Given the description of an element on the screen output the (x, y) to click on. 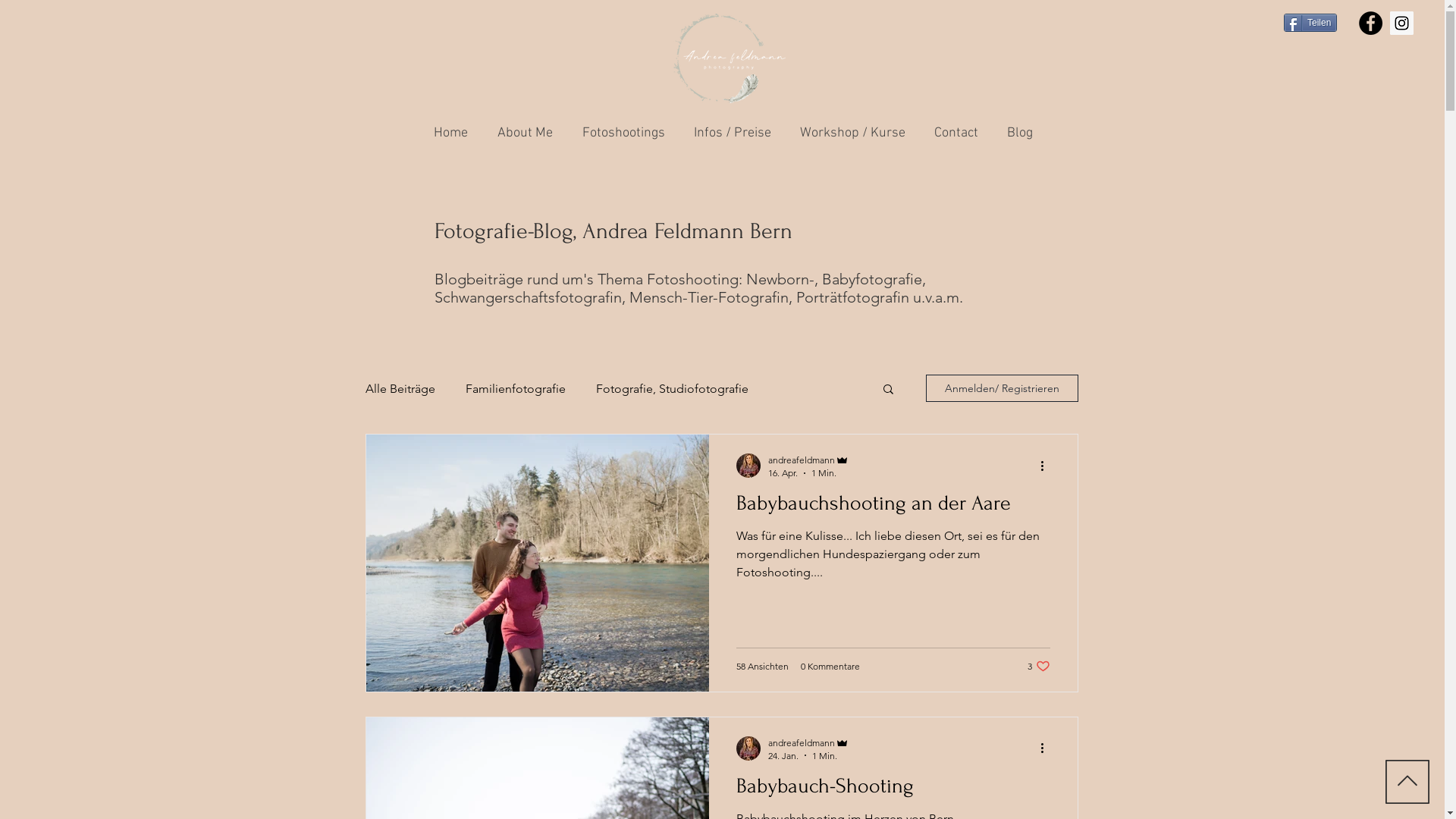
Familienfotografie Element type: text (515, 387)
Home Element type: text (452, 132)
Babybauch-Shooting Element type: text (892, 789)
Workshop / Kurse Element type: text (849, 132)
Teilen Element type: text (1309, 22)
Babybauchshooting an der Aare Element type: text (892, 507)
Infos / Preise Element type: text (729, 132)
Blog Element type: text (1010, 132)
Contact Element type: text (952, 132)
Fotoshootings Element type: text (620, 132)
Fotografie, Studiofotografie Element type: text (672, 387)
Anmelden/ Registrieren Element type: text (1001, 387)
Logo_Andrea_3.png Element type: hover (729, 58)
About Me Element type: text (521, 132)
0 Kommentare Element type: text (829, 665)
